Given the description of an element on the screen output the (x, y) to click on. 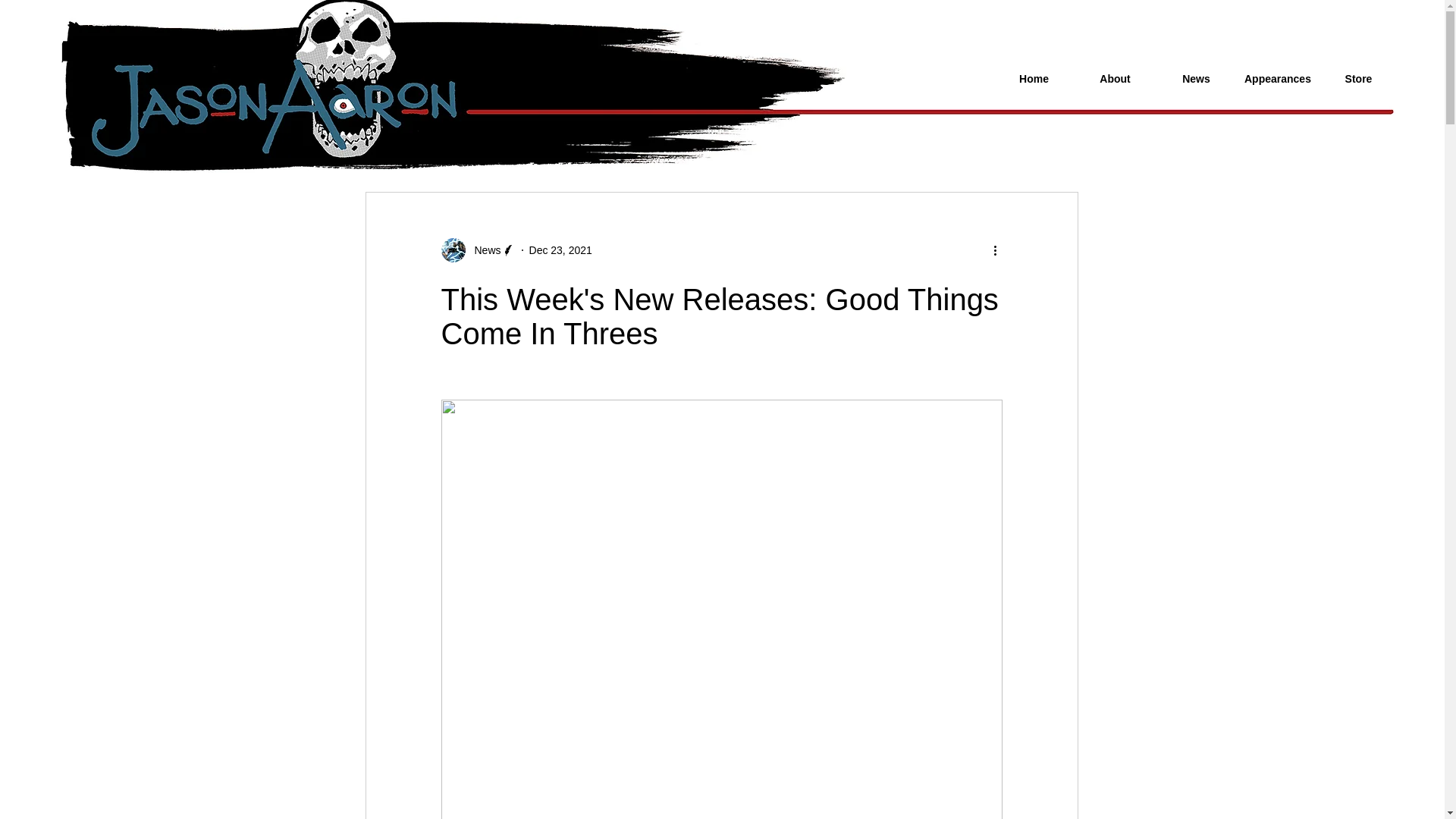
Dec 23, 2021 (560, 250)
News (478, 250)
Home (1033, 79)
Appearances (1276, 79)
News (482, 250)
Store (1358, 79)
About (1115, 79)
News (1196, 79)
